Given the description of an element on the screen output the (x, y) to click on. 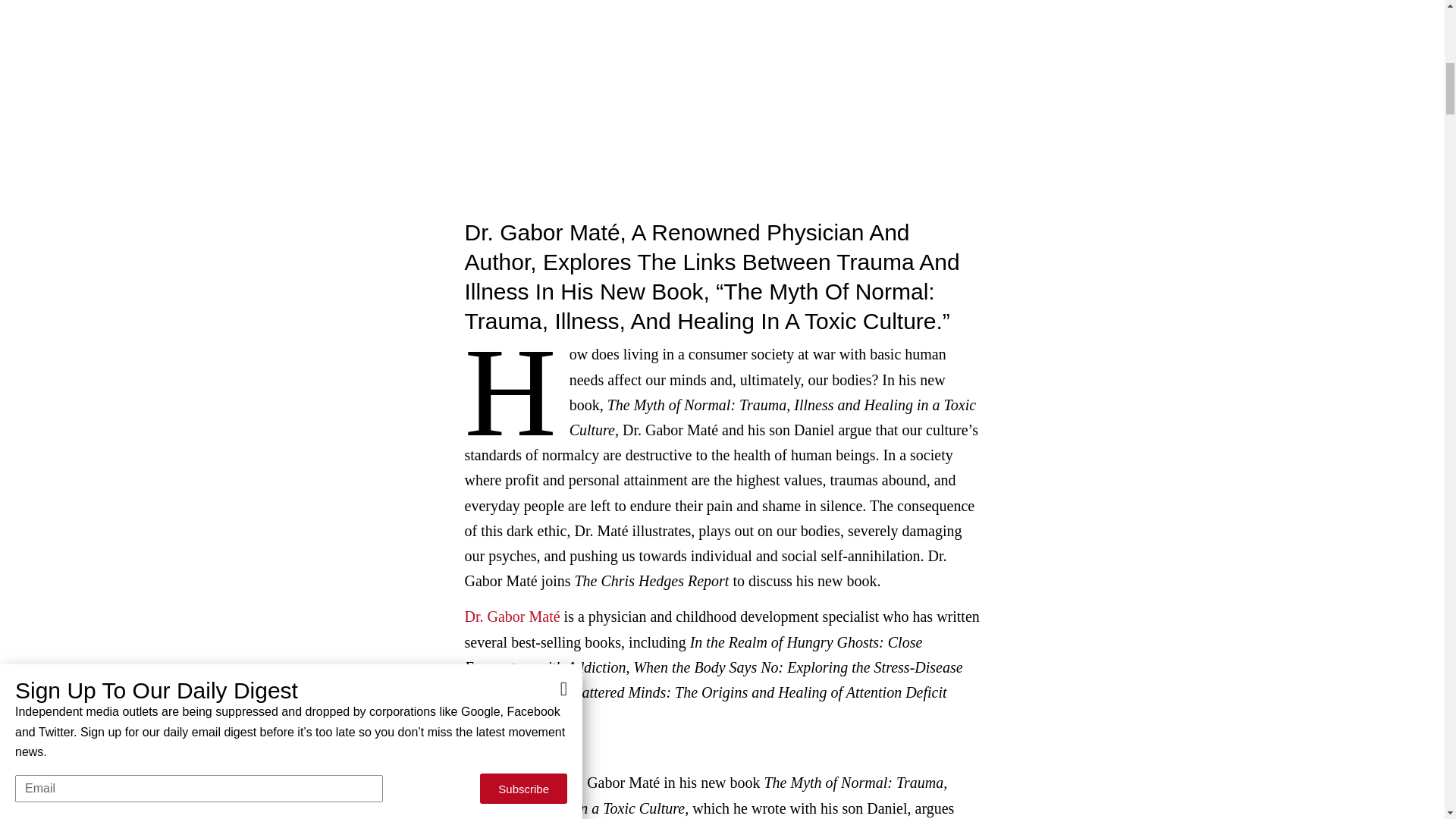
YouTube video player (721, 99)
